Given the description of an element on the screen output the (x, y) to click on. 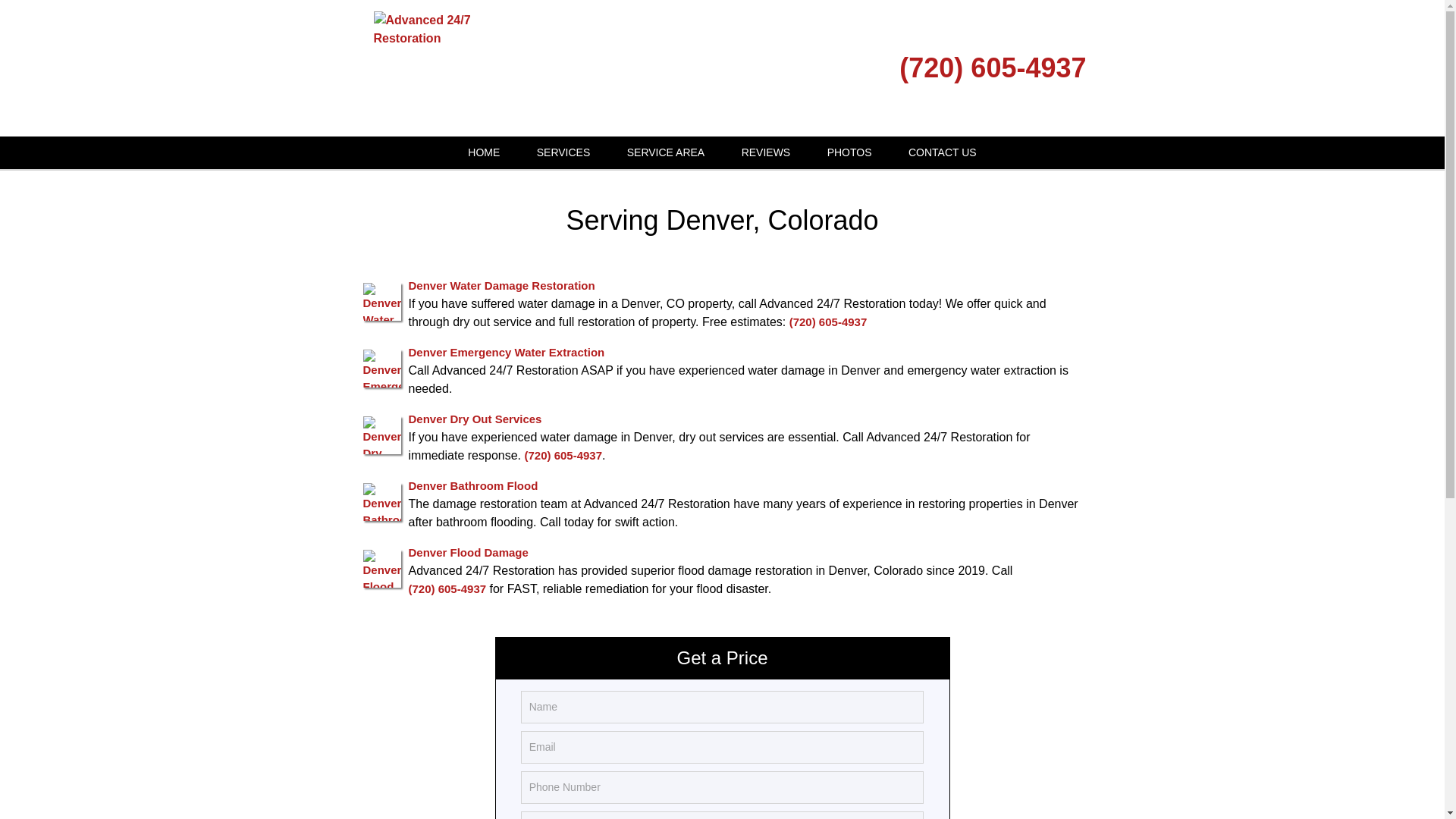
Denver Bathroom Flood (472, 485)
HOME (483, 152)
CONTACT US (941, 152)
PHOTOS (849, 152)
Denver Dry Out Services (474, 418)
Denver Emergency Water Extraction (505, 351)
Denver Flood Damage (467, 552)
SERVICES (563, 152)
REVIEWS (766, 152)
SERVICE AREA (665, 152)
Denver Water Damage Restoration (500, 285)
